Given the description of an element on the screen output the (x, y) to click on. 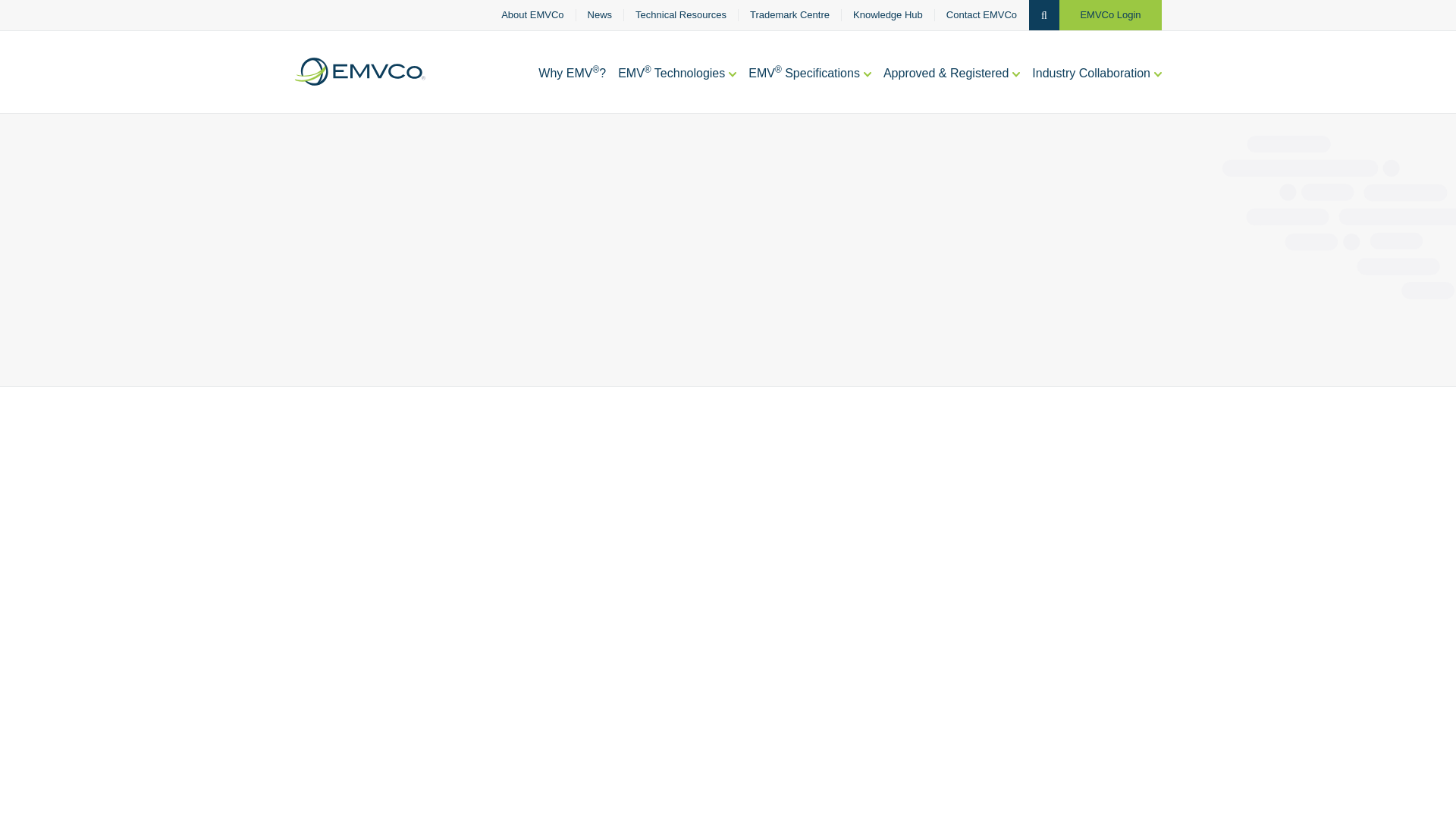
EMVCo Login (1110, 15)
Industry Collaboration (1096, 89)
Trademark Centre (789, 15)
News (600, 15)
EMVCo Logo (360, 71)
Knowledge Hub (888, 15)
About EMVCo (531, 15)
Contact EMVCo (981, 15)
Technical Resources (680, 15)
